Given the description of an element on the screen output the (x, y) to click on. 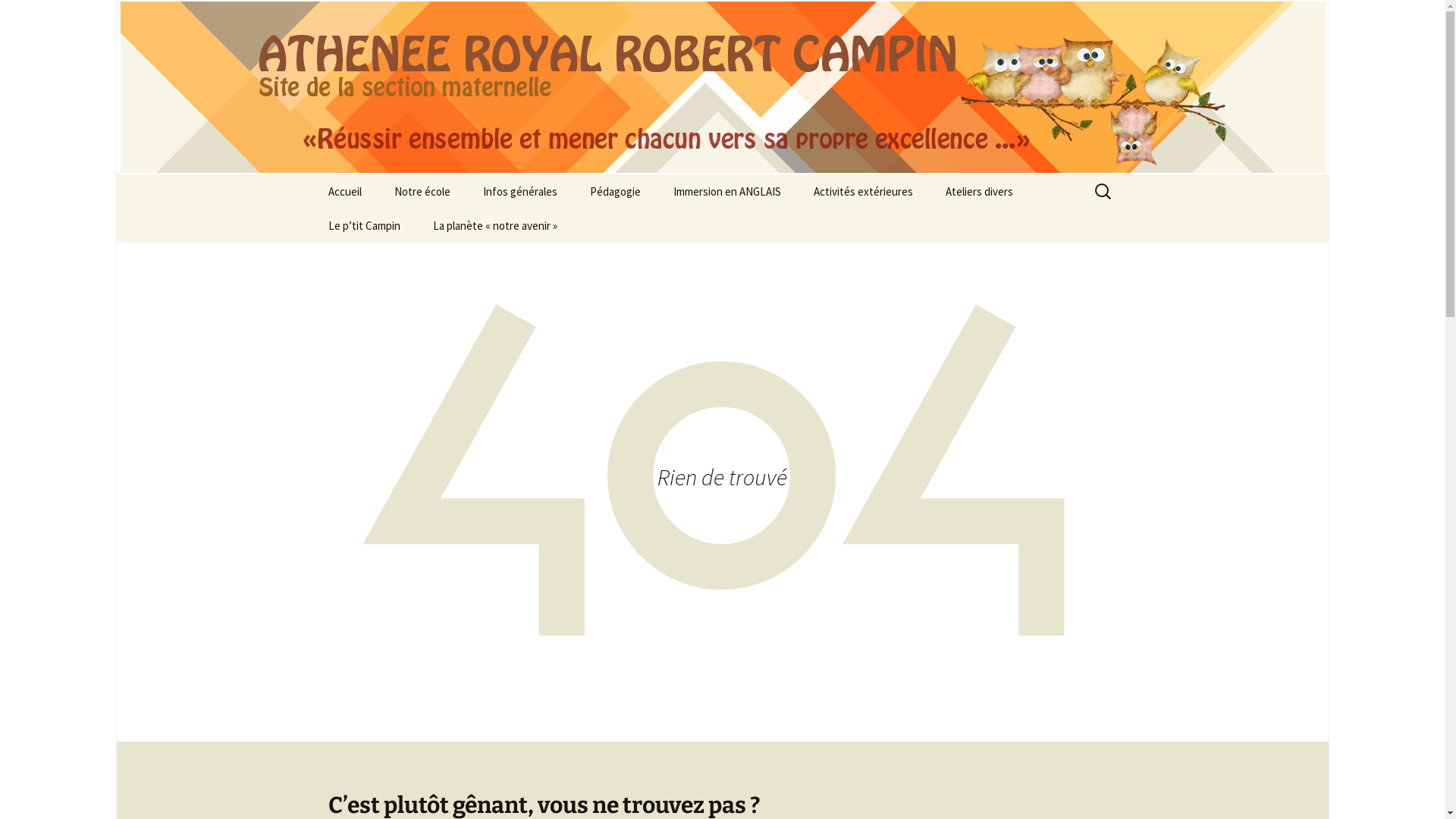
Rechercher Element type: text (18, 16)
Ateliers scientifiques Element type: text (1005, 225)
Accueil Element type: text (344, 191)
Aller au contenu Element type: text (312, 173)
Immersion en ANGLAIS Element type: text (727, 191)
Rechercher Element type: text (44, 15)
Rechercher Element type: text (47, 16)
Un jardin dans la ville Element type: text (454, 225)
Ateliers divers Element type: text (978, 191)
Projets Element type: text (650, 225)
